Given the description of an element on the screen output the (x, y) to click on. 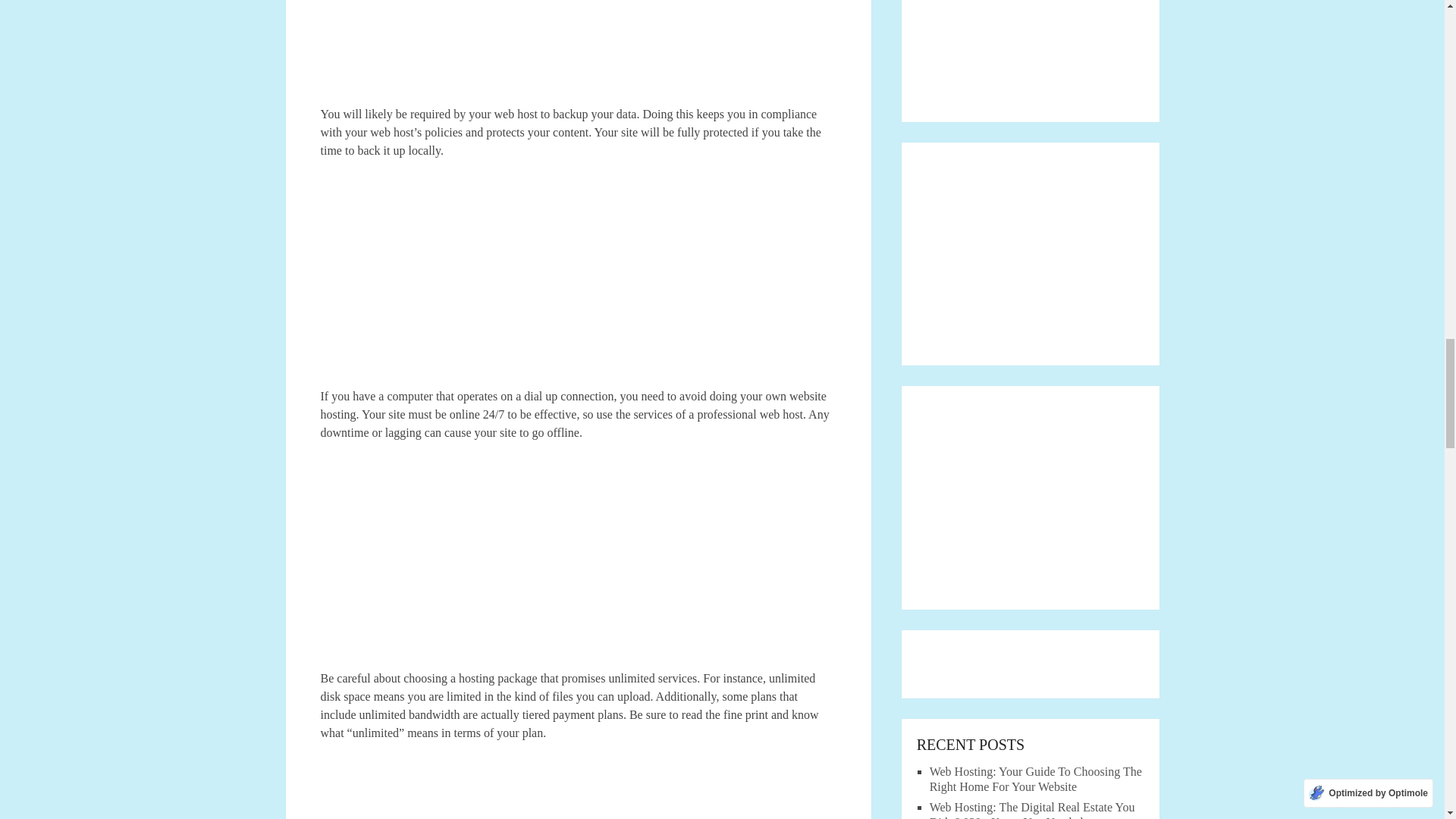
Advertisement (577, 563)
Advertisement (577, 52)
Advertisement (577, 281)
